Given the description of an element on the screen output the (x, y) to click on. 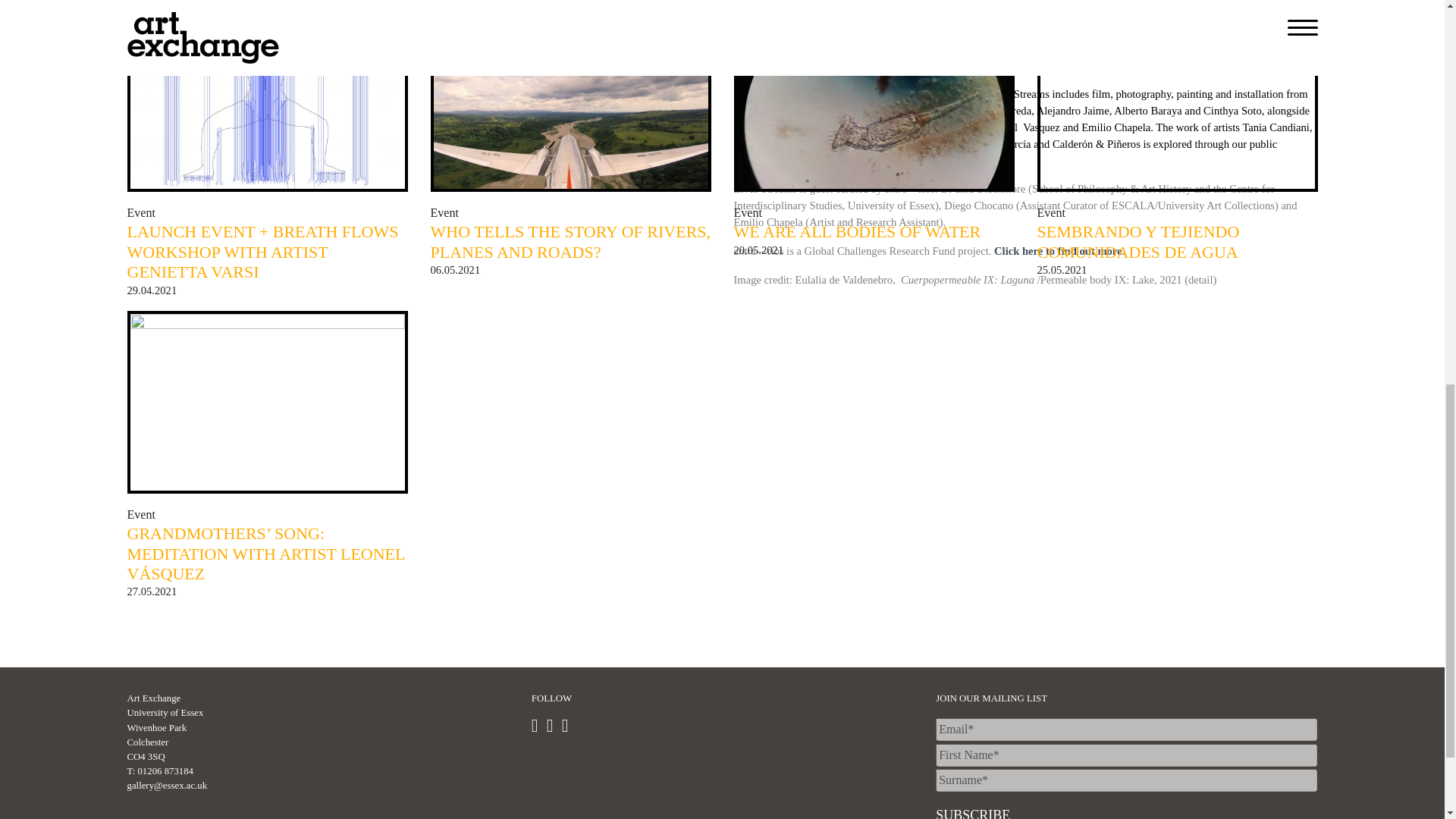
WHO TELLS THE STORY OF RIVERS, PLANES AND ROADS? (570, 241)
Click here to find out more (1058, 250)
SEMBRANDO Y TEJIENDO COMUNIDADES DE AGUA (1138, 241)
WE ARE ALL BODIES OF WATER (857, 230)
